Given the description of an element on the screen output the (x, y) to click on. 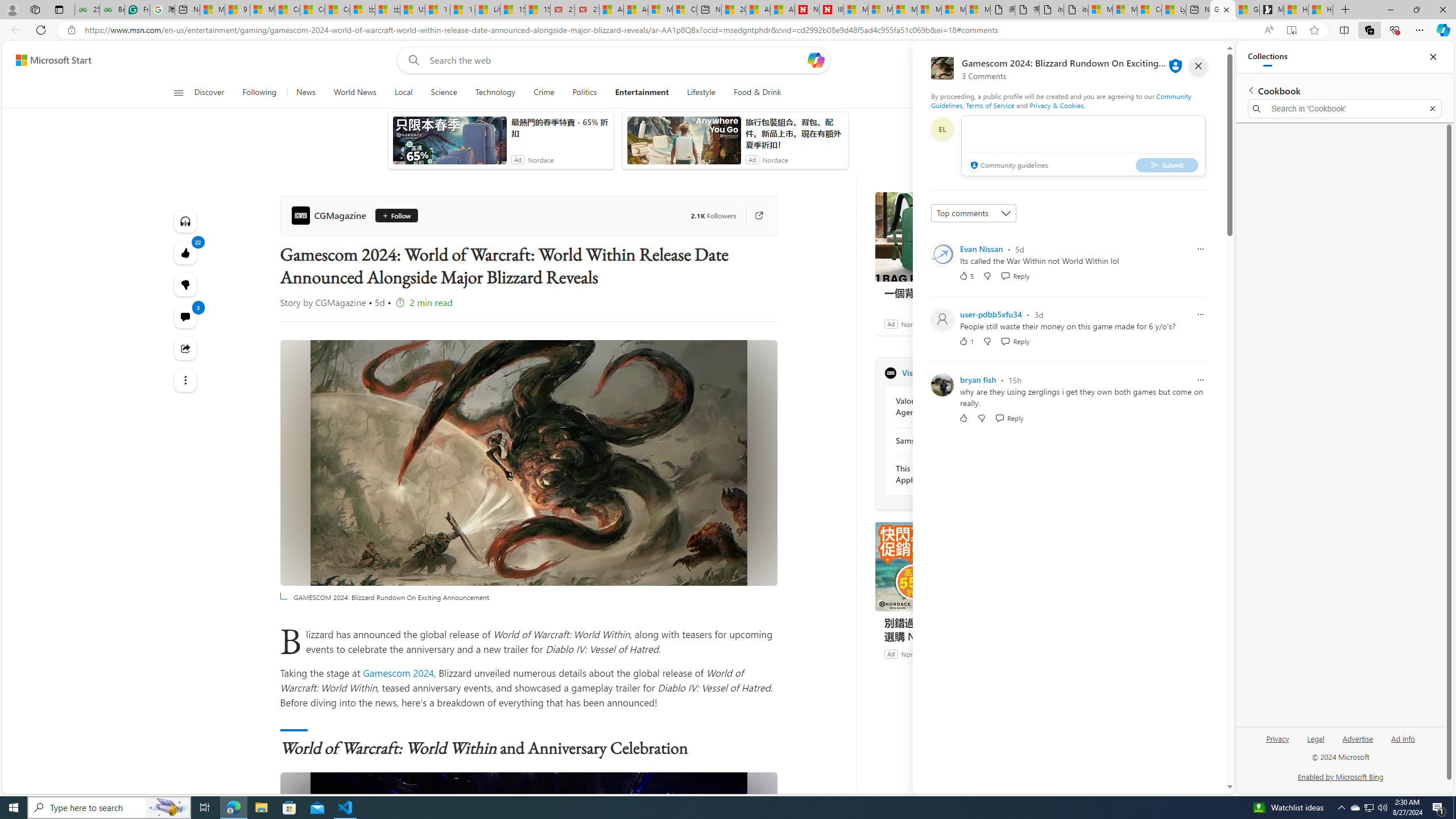
Skip to footer (46, 59)
Profile Picture (941, 384)
Local (403, 92)
Community guidelines (1008, 165)
View comments 3 Comment (184, 316)
World News (355, 92)
Cloud Computing Services | Microsoft Azure (684, 9)
Politics (584, 92)
itconcepthk.com/projector_solutions.mp4 (1075, 9)
